Given the description of an element on the screen output the (x, y) to click on. 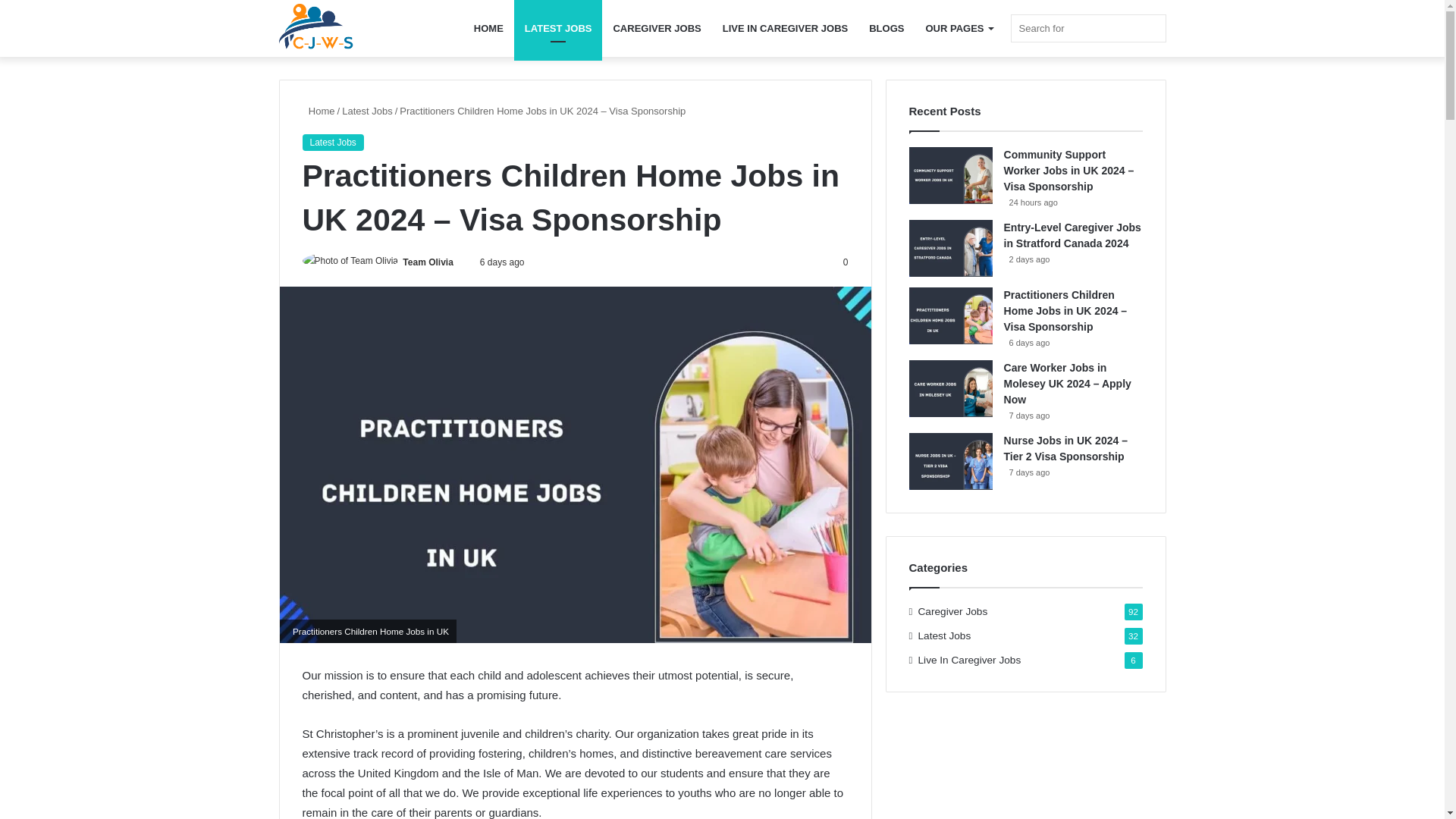
LATEST JOBS (557, 28)
LIVE IN CAREGIVER JOBS (785, 28)
Caregiver Jobs With Visa (317, 28)
Search for (1088, 28)
Team Olivia (427, 262)
HOME (488, 28)
Latest Jobs (367, 111)
Home (317, 111)
OUR PAGES (958, 28)
Latest Jobs (331, 142)
CAREGIVER JOBS (656, 28)
BLOGS (886, 28)
Team Olivia (427, 262)
